Given the description of an element on the screen output the (x, y) to click on. 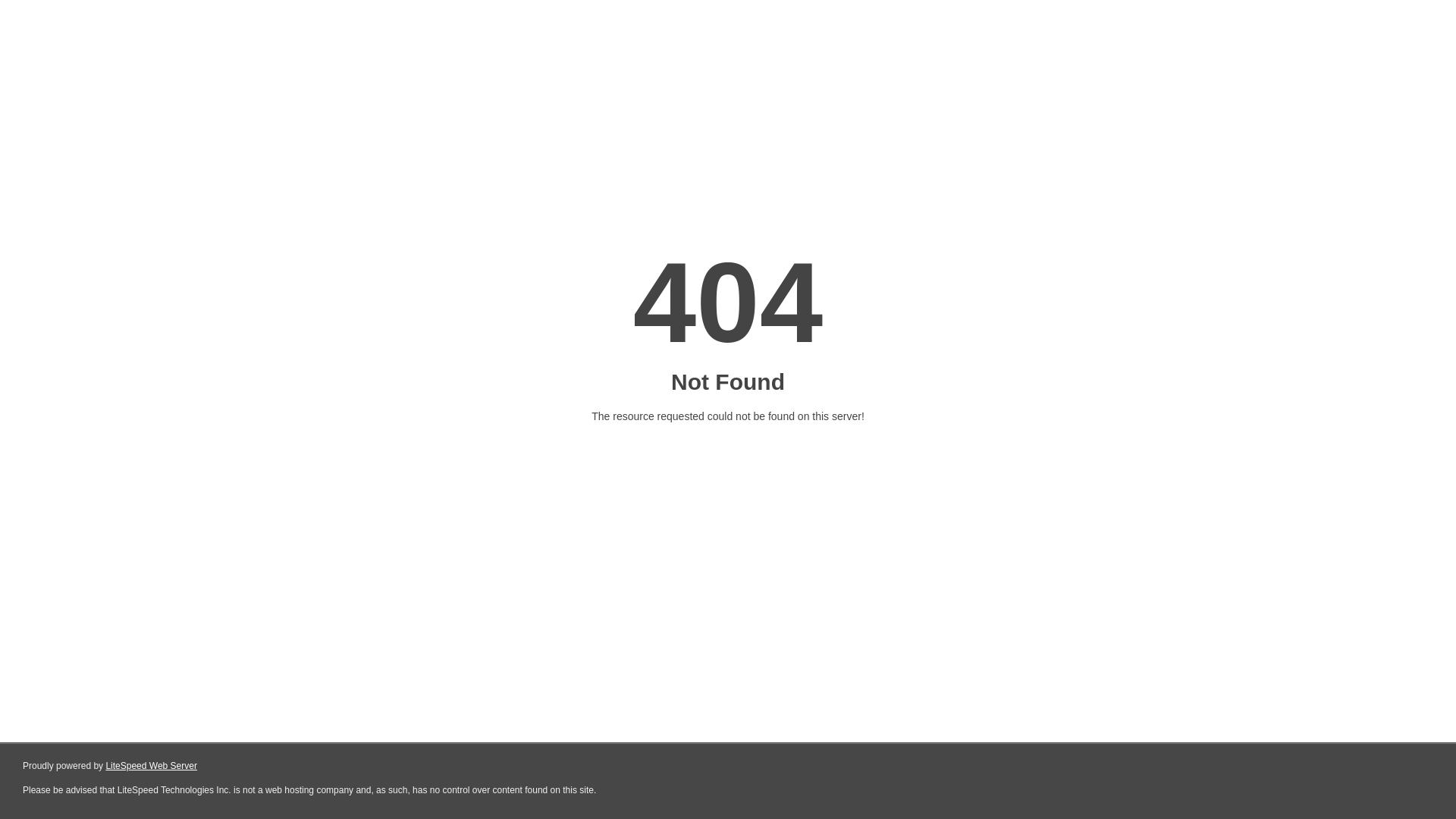
LiteSpeed Web Server Element type: text (151, 765)
